Given the description of an element on the screen output the (x, y) to click on. 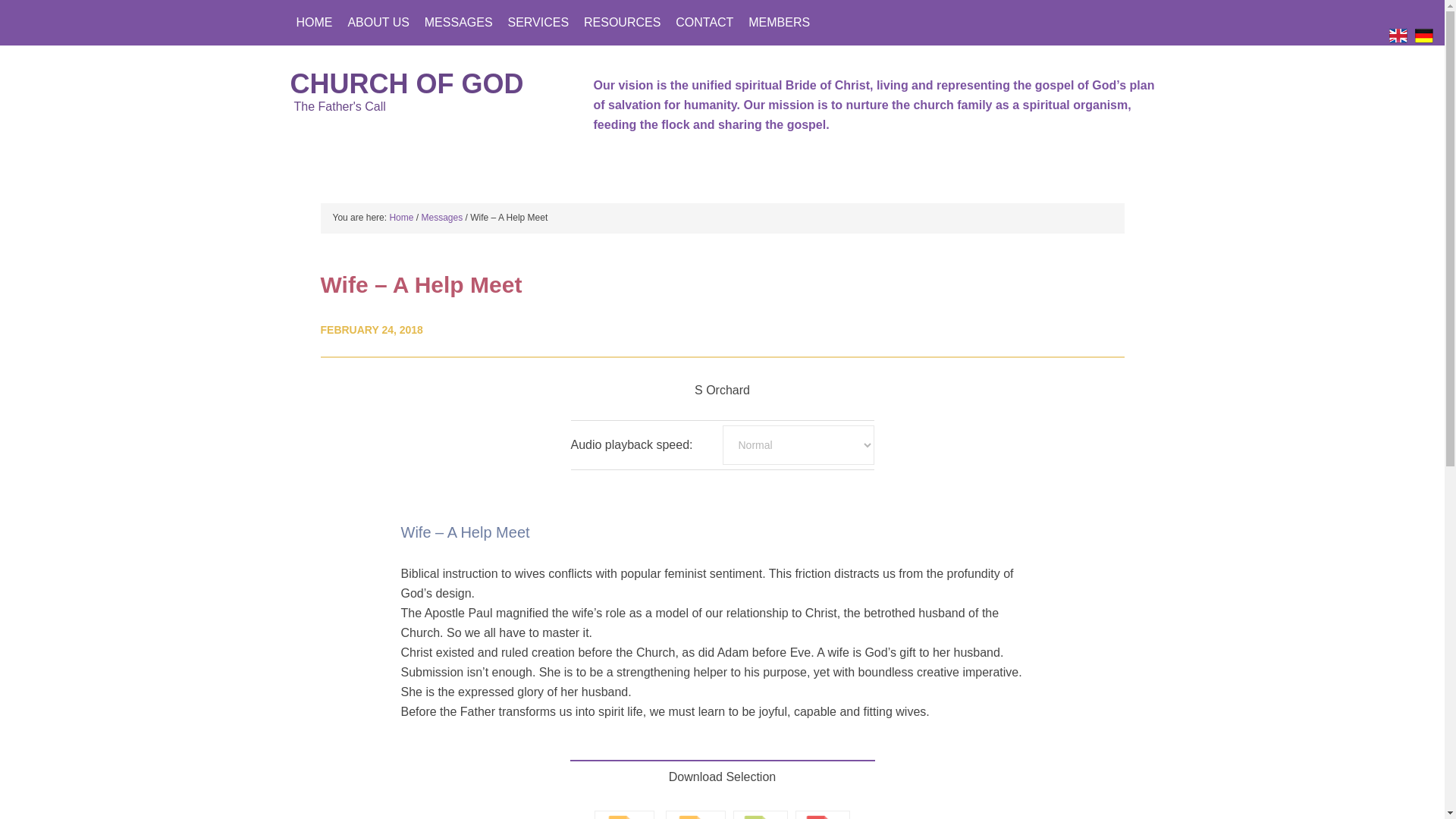
MESSAGES (459, 22)
MEMBERS (778, 22)
CONTACT (704, 22)
HOME (313, 22)
RESOURCES (622, 22)
ABOUT US (377, 22)
SERVICES (537, 22)
